Given the description of an element on the screen output the (x, y) to click on. 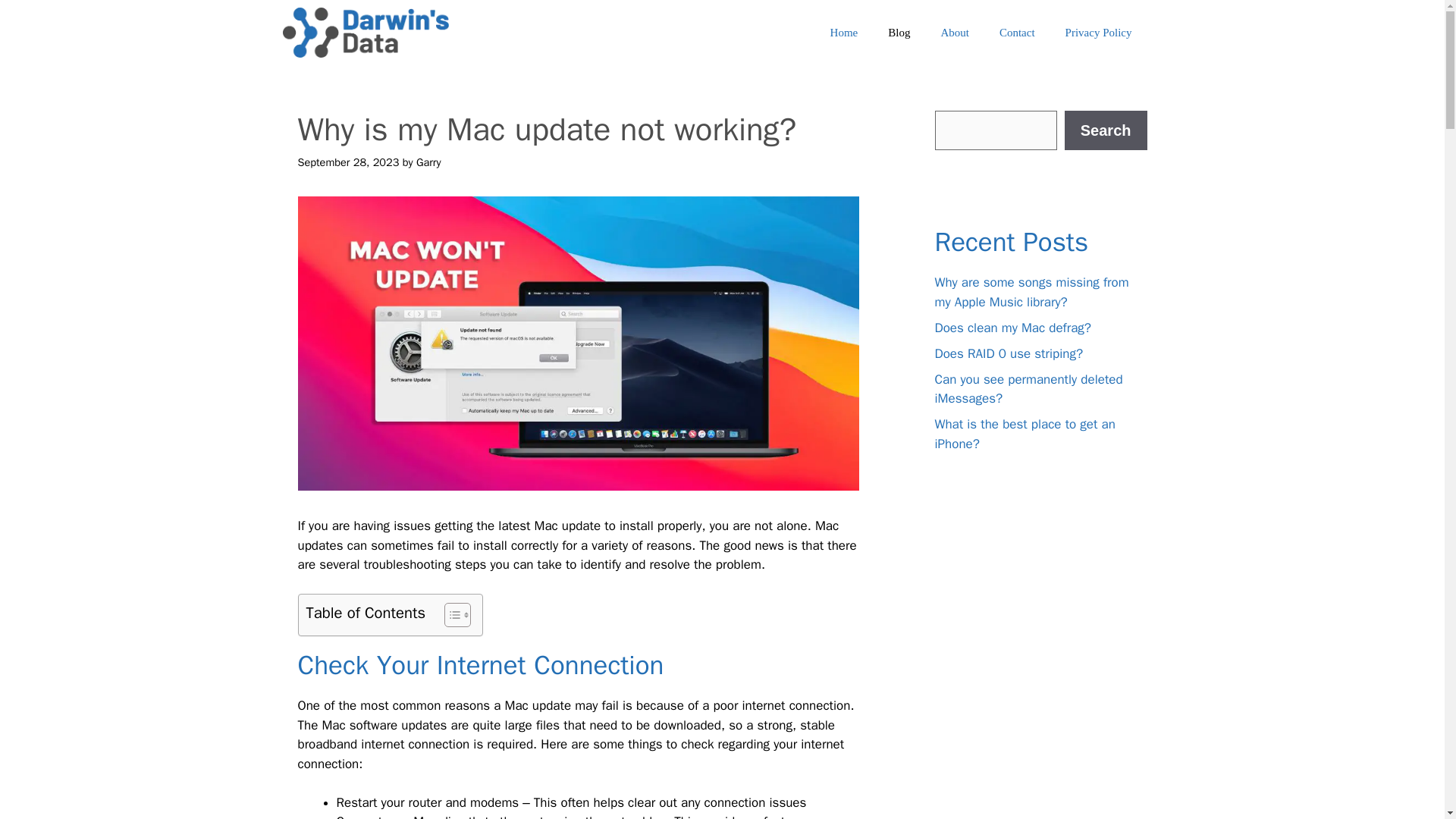
Blog (898, 32)
Darwin's Data (365, 32)
Home (844, 32)
Why are some songs missing from my Apple Music library? (1031, 292)
Search (1105, 129)
About (954, 32)
Does RAID 0 use striping? (1008, 353)
Can you see permanently deleted iMessages? (1028, 389)
Privacy Policy (1098, 32)
Contact (1016, 32)
